Given the description of an element on the screen output the (x, y) to click on. 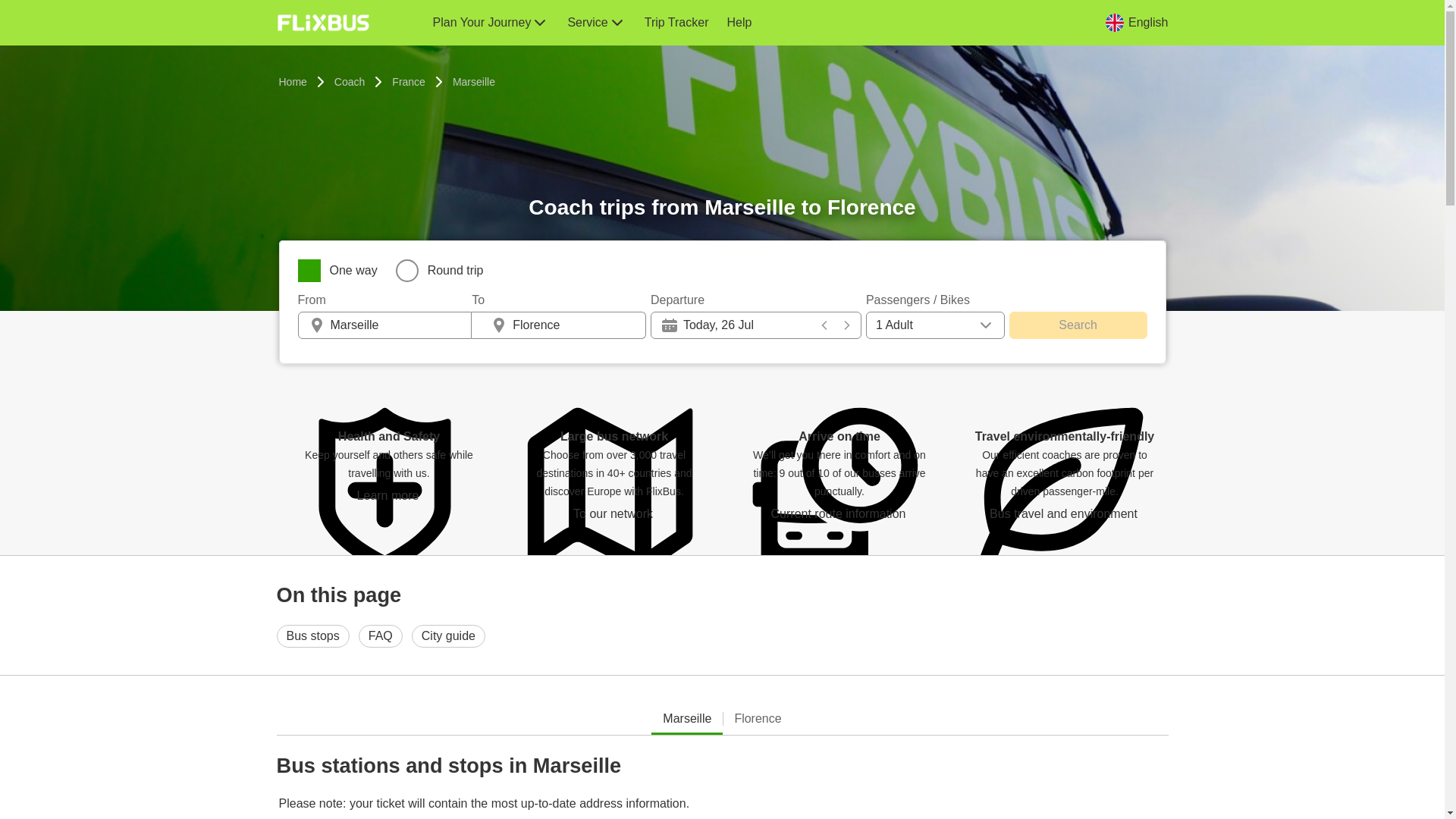
Search (1078, 325)
Help (738, 22)
Departure (755, 300)
To our network (614, 513)
Home (292, 81)
1 Adult (935, 325)
France (409, 81)
Marseille (687, 718)
Bus stops (312, 635)
City guide (448, 635)
Plan Your Journey (490, 22)
Today, 26 Jul (755, 325)
Learn more (389, 495)
Coach (348, 81)
Bus travel and environment (1064, 513)
